Given the description of an element on the screen output the (x, y) to click on. 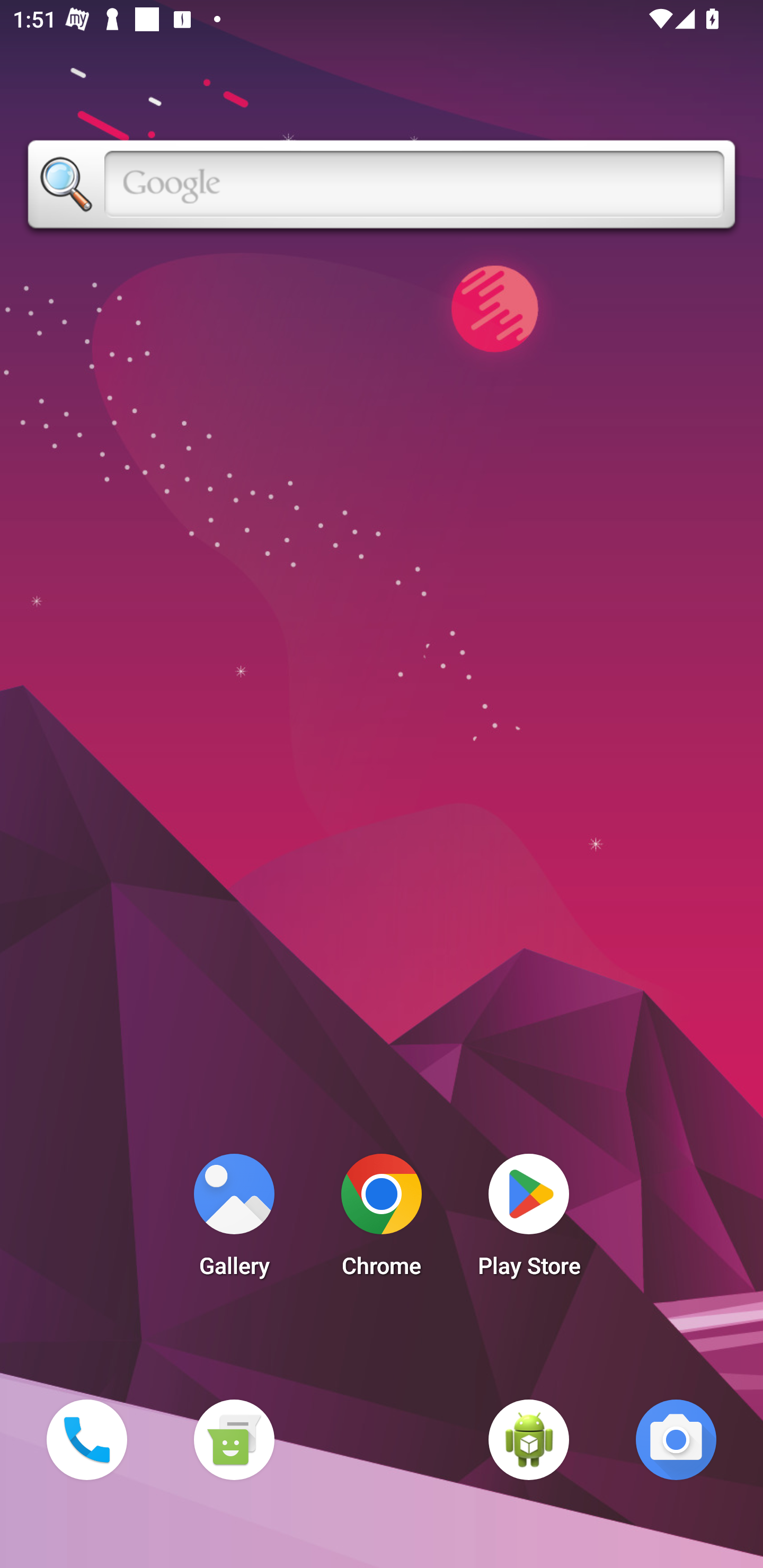
Gallery (233, 1220)
Chrome (381, 1220)
Play Store (528, 1220)
Phone (86, 1439)
Messaging (233, 1439)
WebView Browser Tester (528, 1439)
Camera (676, 1439)
